Given the description of an element on the screen output the (x, y) to click on. 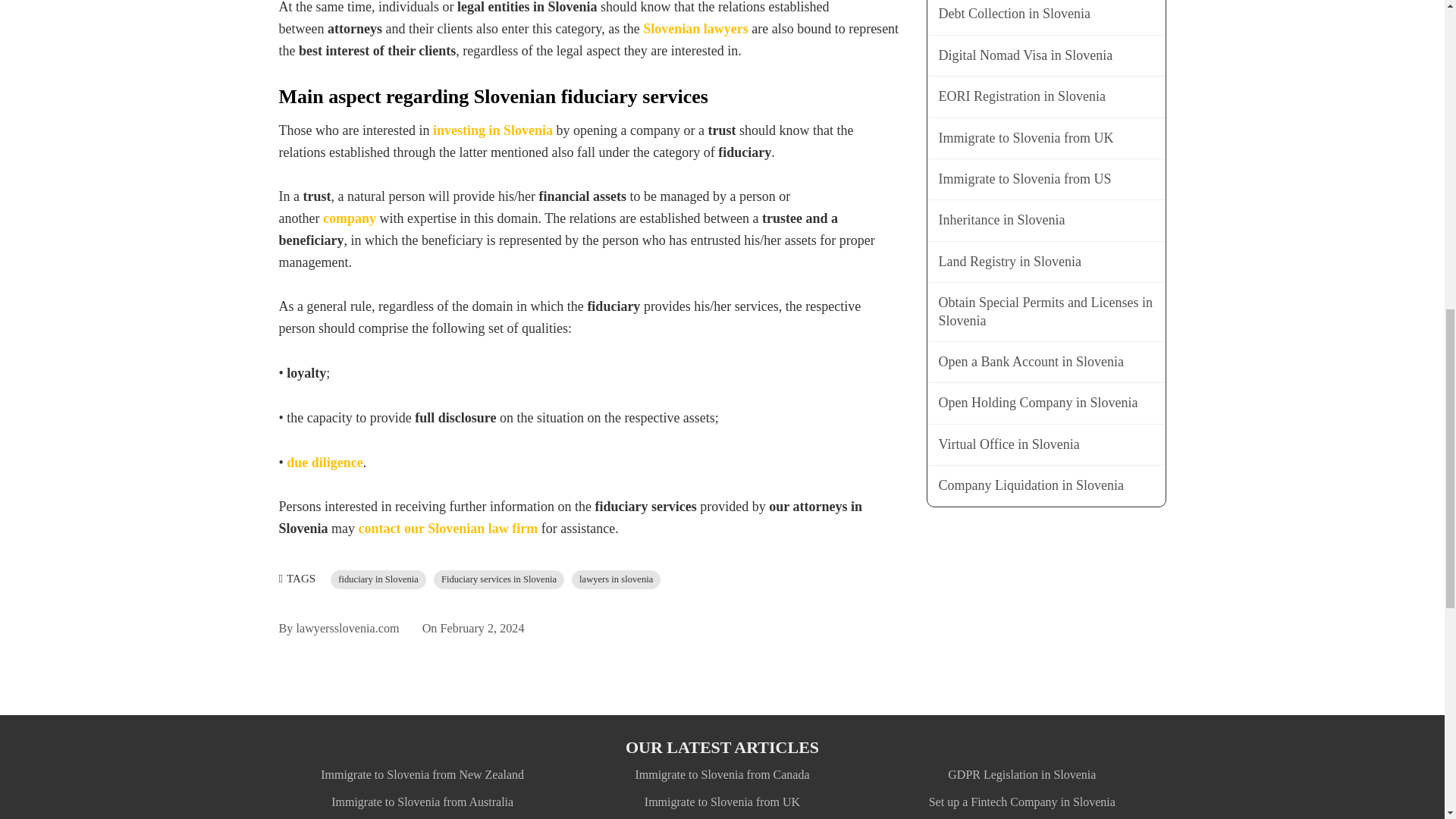
due diligence (324, 462)
contact our Slovenian law firm (448, 528)
Fiduciary services in Slovenia (498, 579)
fiduciary in Slovenia (378, 579)
investing in Slovenia (492, 130)
company (349, 218)
Slovenian lawyers (695, 28)
